Given the description of an element on the screen output the (x, y) to click on. 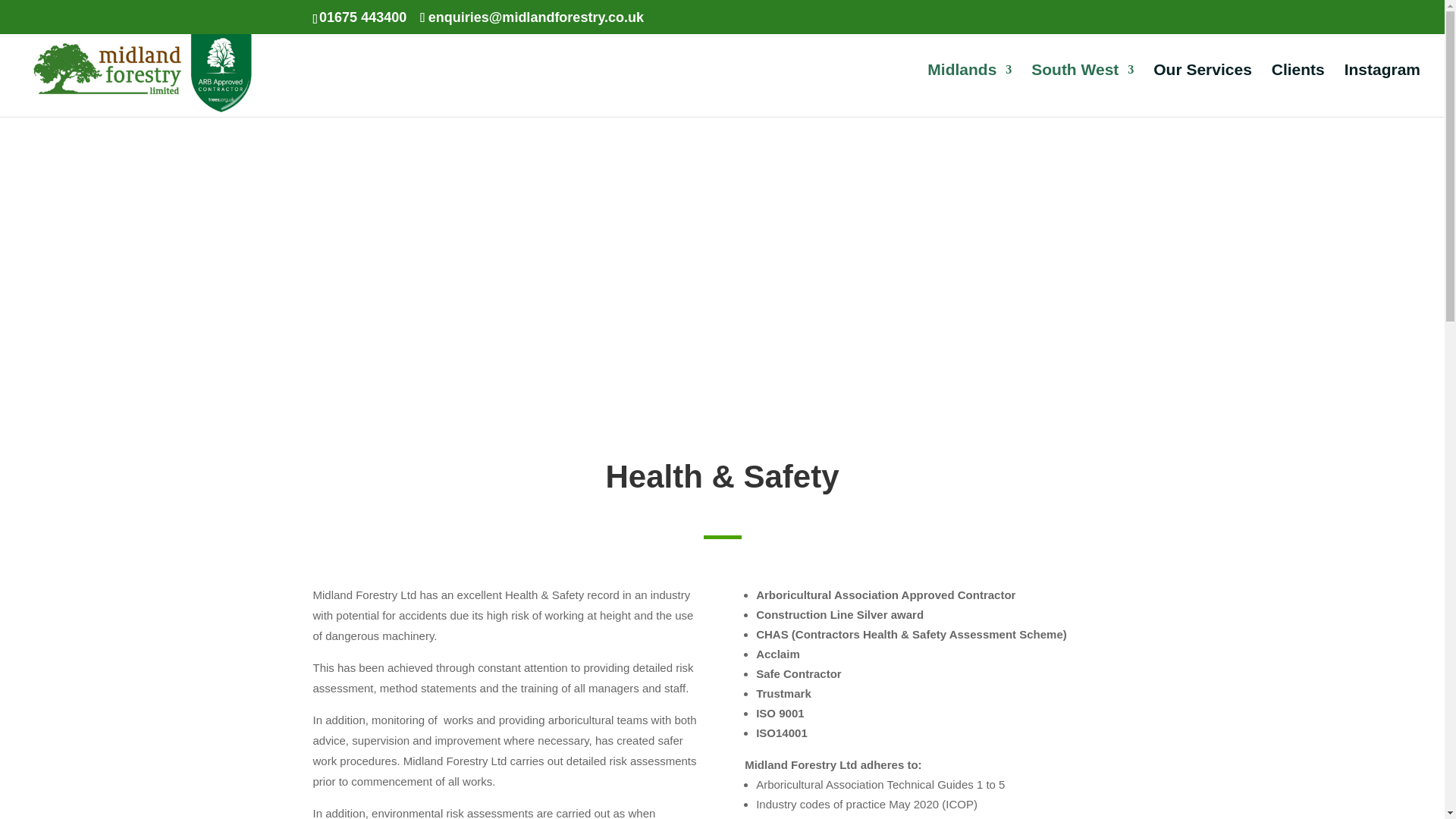
Midlands (969, 90)
Clients (1297, 90)
South West (1082, 90)
Instagram (1382, 90)
Our Services (1202, 90)
